Given the description of an element on the screen output the (x, y) to click on. 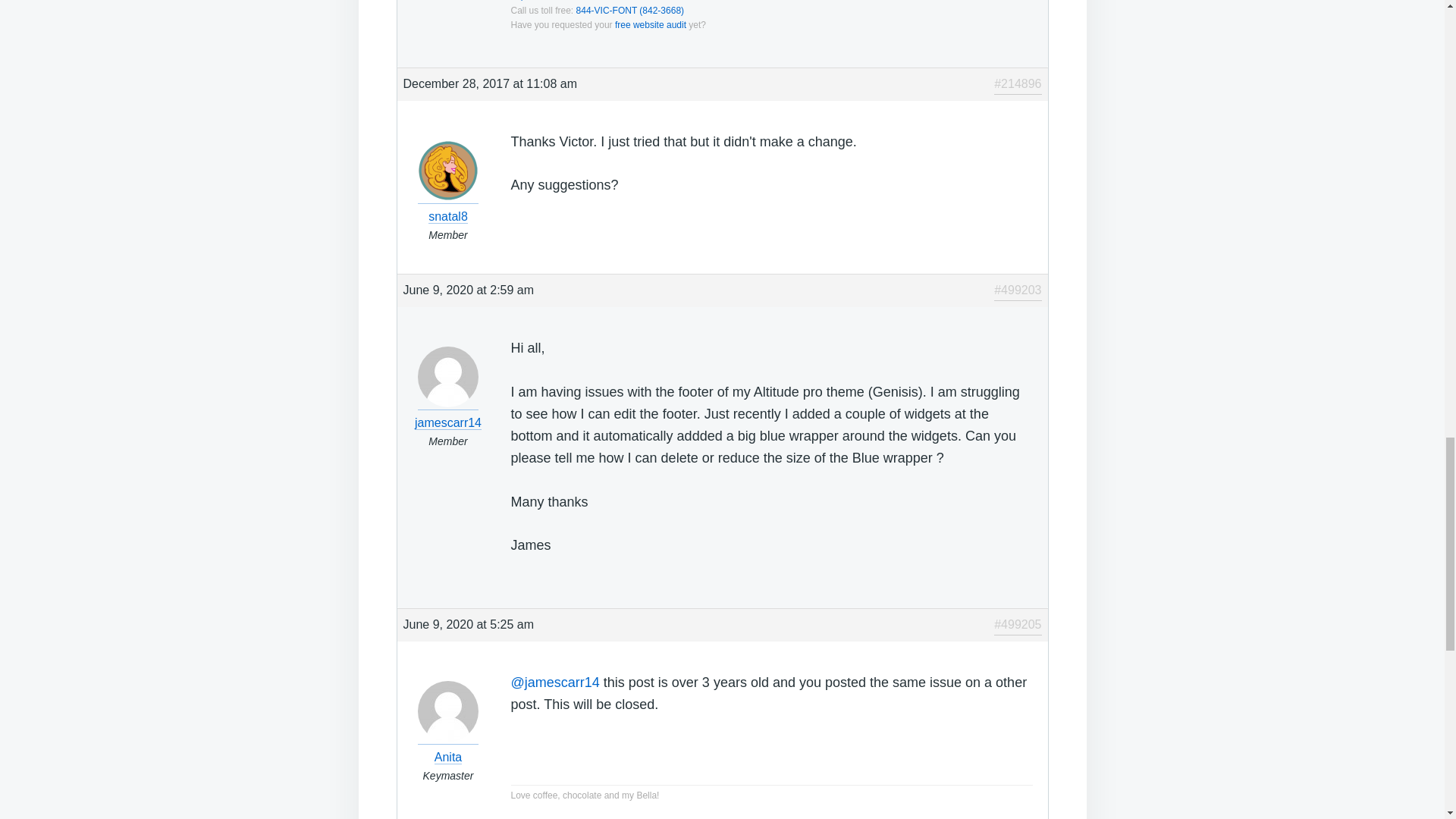
View Anita's profile (448, 747)
View snatal8's profile (448, 206)
View jamescarr14's profile (447, 412)
